Given the description of an element on the screen output the (x, y) to click on. 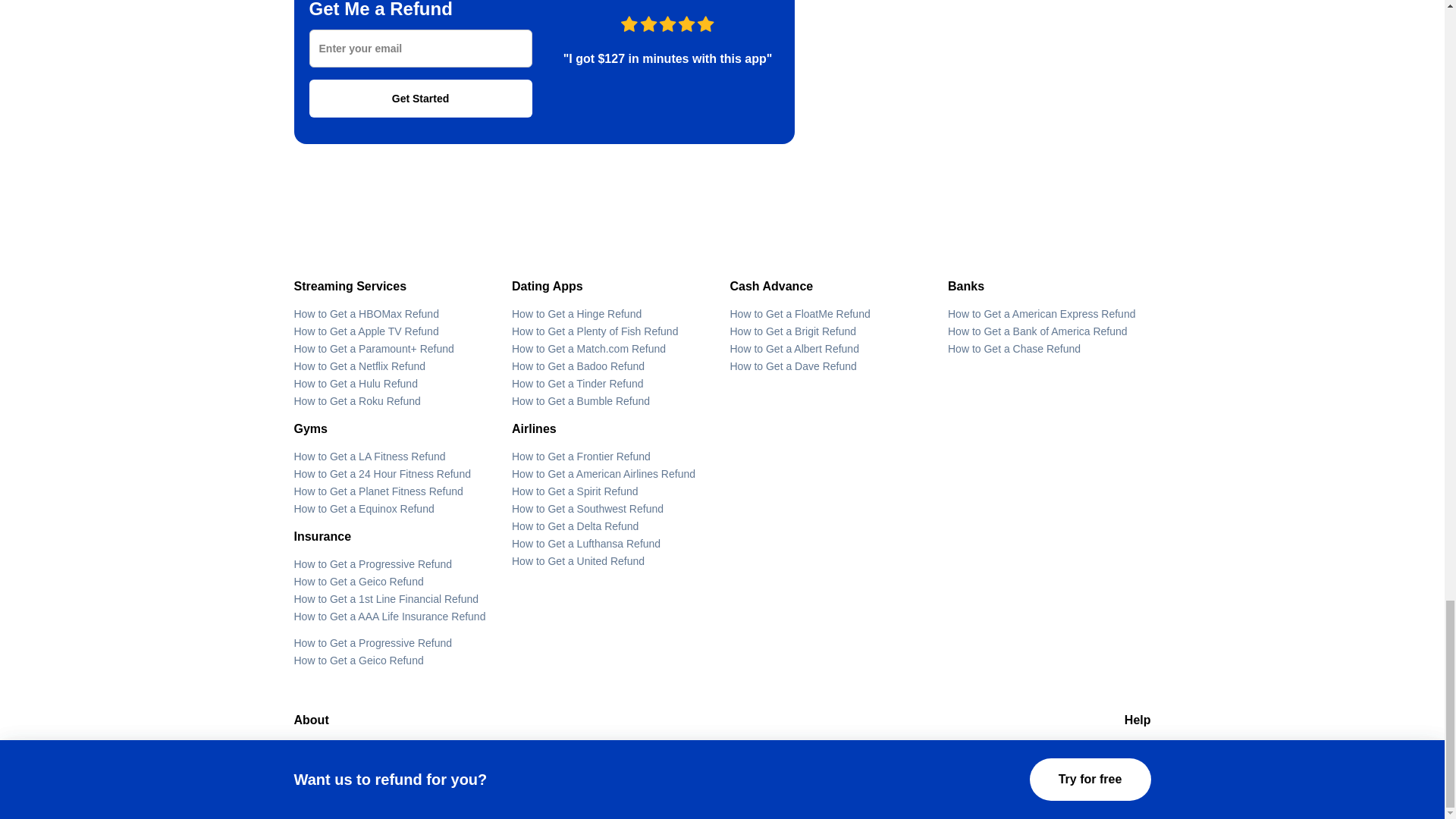
How to Get a Hulu Refund (355, 383)
Get Started (420, 98)
How to Get a Netflix Refund (360, 366)
How to Get a HBOMax Refund (366, 313)
How to Get a Roku Refund (357, 400)
How to Get a LA Fitness Refund (369, 456)
How to Get a Apple TV Refund (366, 331)
Get Started (420, 98)
